Given the description of an element on the screen output the (x, y) to click on. 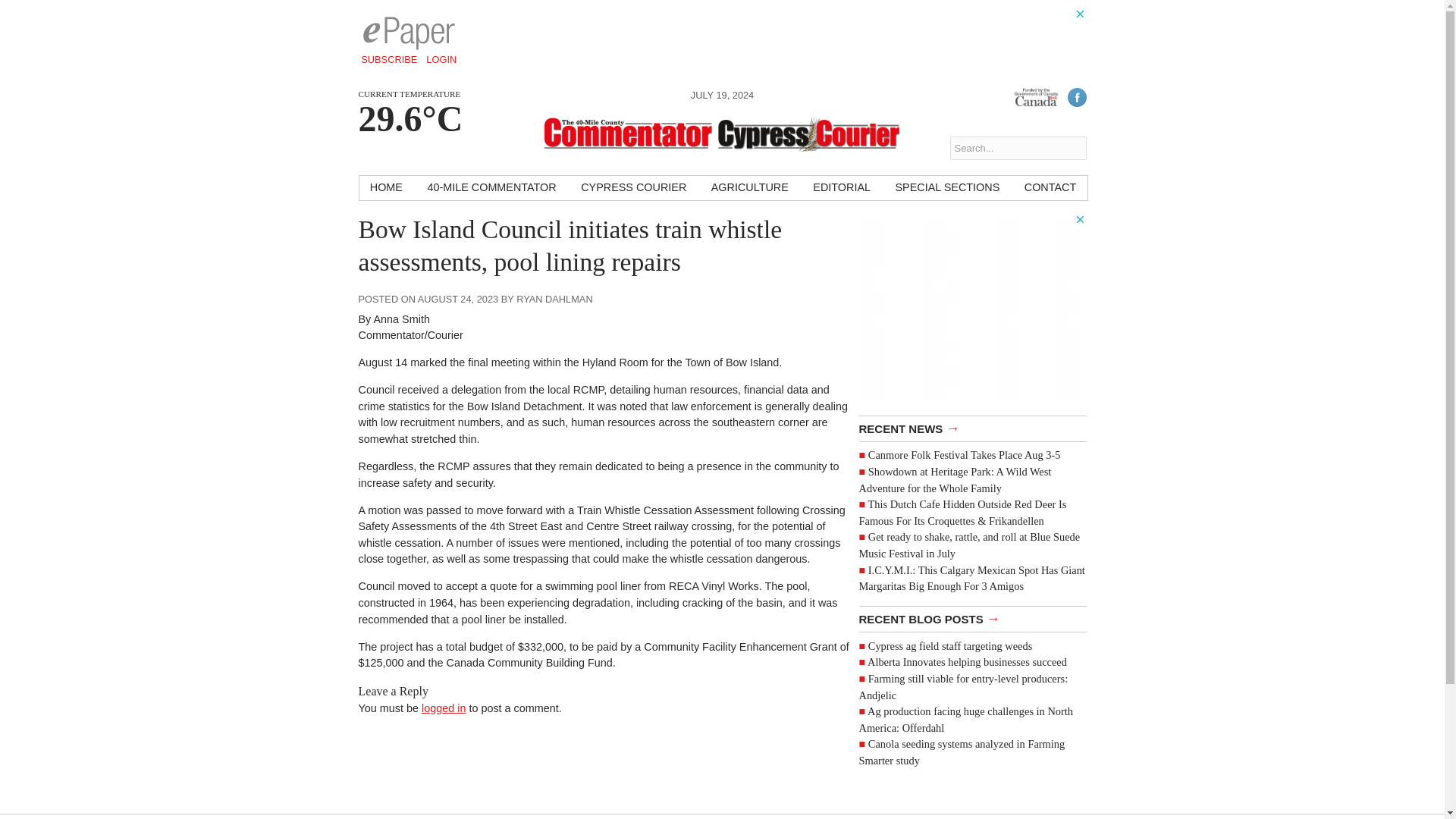
AGRICULTURE (749, 187)
logged in (443, 707)
CONTACT (1049, 187)
40-MILE COMMENTATOR (491, 187)
Cypress ag field staff targeting weeds (949, 645)
CYPRESS COURIER (633, 187)
HOME (386, 187)
EDITORIAL (841, 187)
SPECIAL SECTIONS (946, 187)
SUBSCRIBE (389, 58)
LOGIN (441, 58)
3rd party ad content (810, 41)
